Given the description of an element on the screen output the (x, y) to click on. 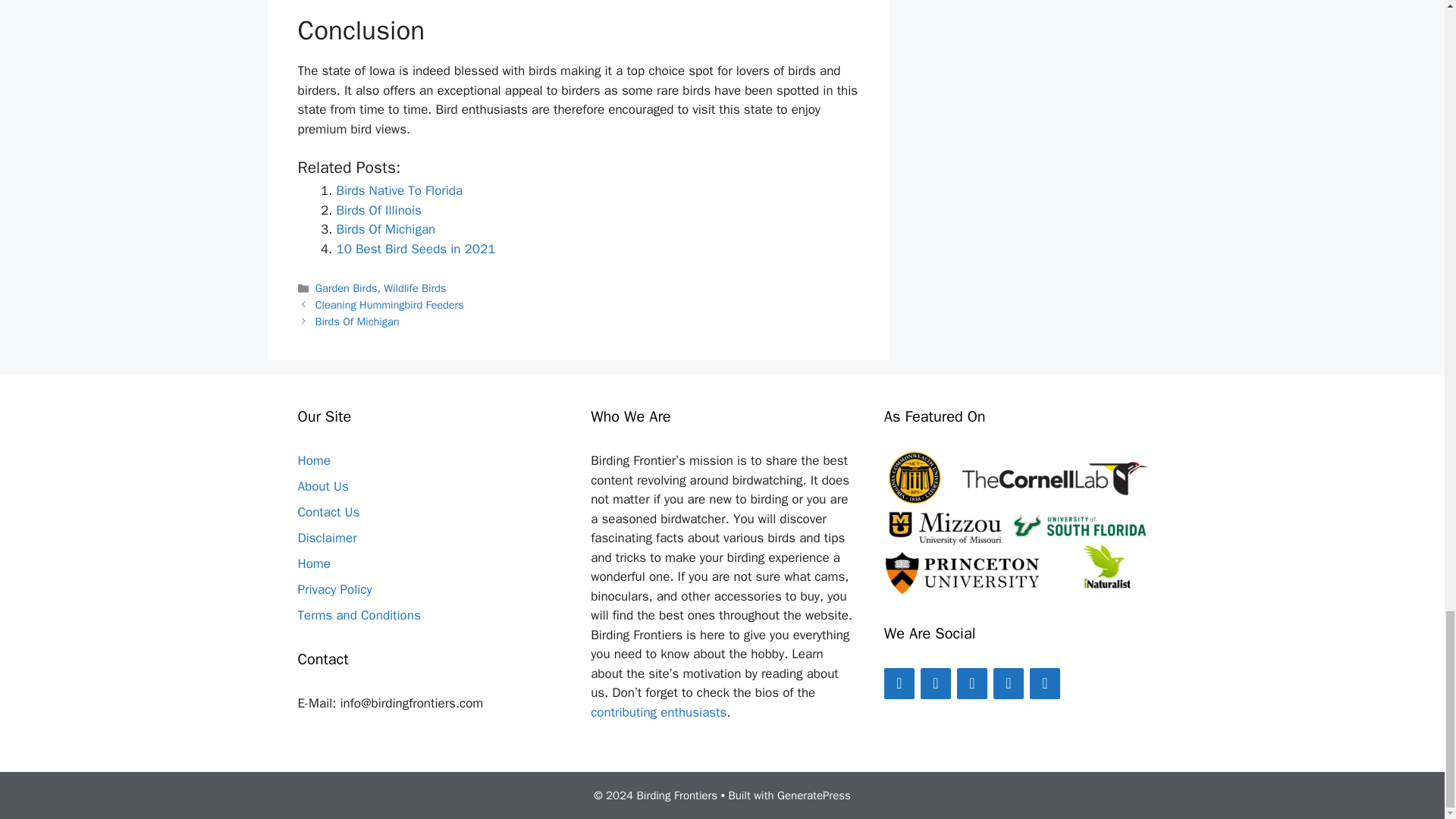
Birds Of Michigan (385, 229)
Birds Of Illinois (379, 210)
Birds Of Michigan (356, 321)
Birds Native To Florida (399, 190)
10 Best Bird Seeds in 2021 (416, 248)
Garden Birds (346, 287)
Wildlife Birds (414, 287)
Birds Of Illinois (379, 210)
Birds Of Michigan (385, 229)
As Featured On (1015, 522)
10 Best Bird Seeds in 2021 (416, 248)
Birds Native To Florida (399, 190)
Cleaning Hummingbird Feeders (389, 305)
